Given the description of an element on the screen output the (x, y) to click on. 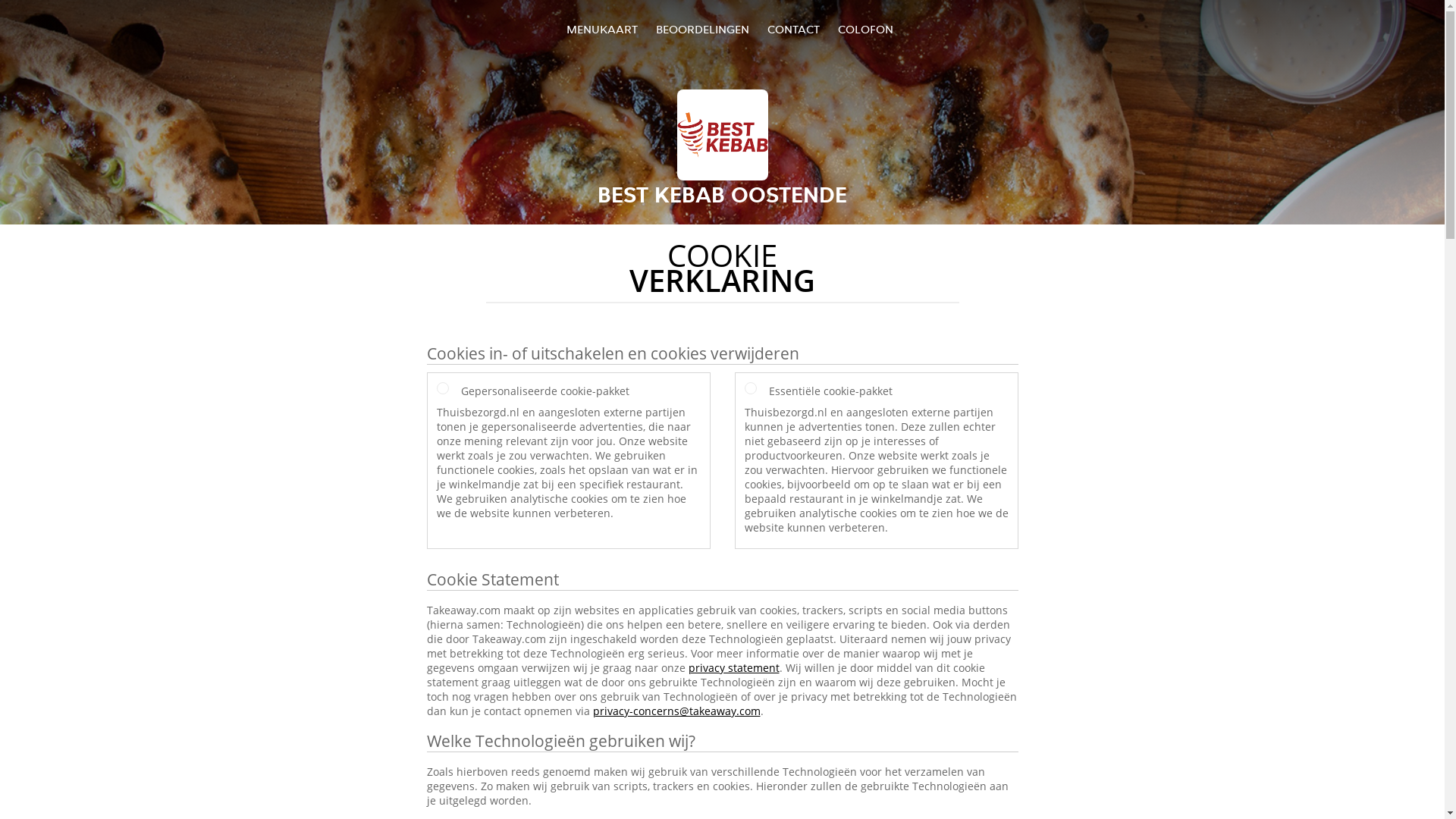
CONTACT Element type: text (793, 29)
privacy statement Element type: text (733, 667)
privacy-concerns@takeaway.com Element type: text (676, 710)
MENUKAART Element type: text (601, 29)
BEOORDELINGEN Element type: text (702, 29)
COLOFON Element type: text (865, 29)
